Given the description of an element on the screen output the (x, y) to click on. 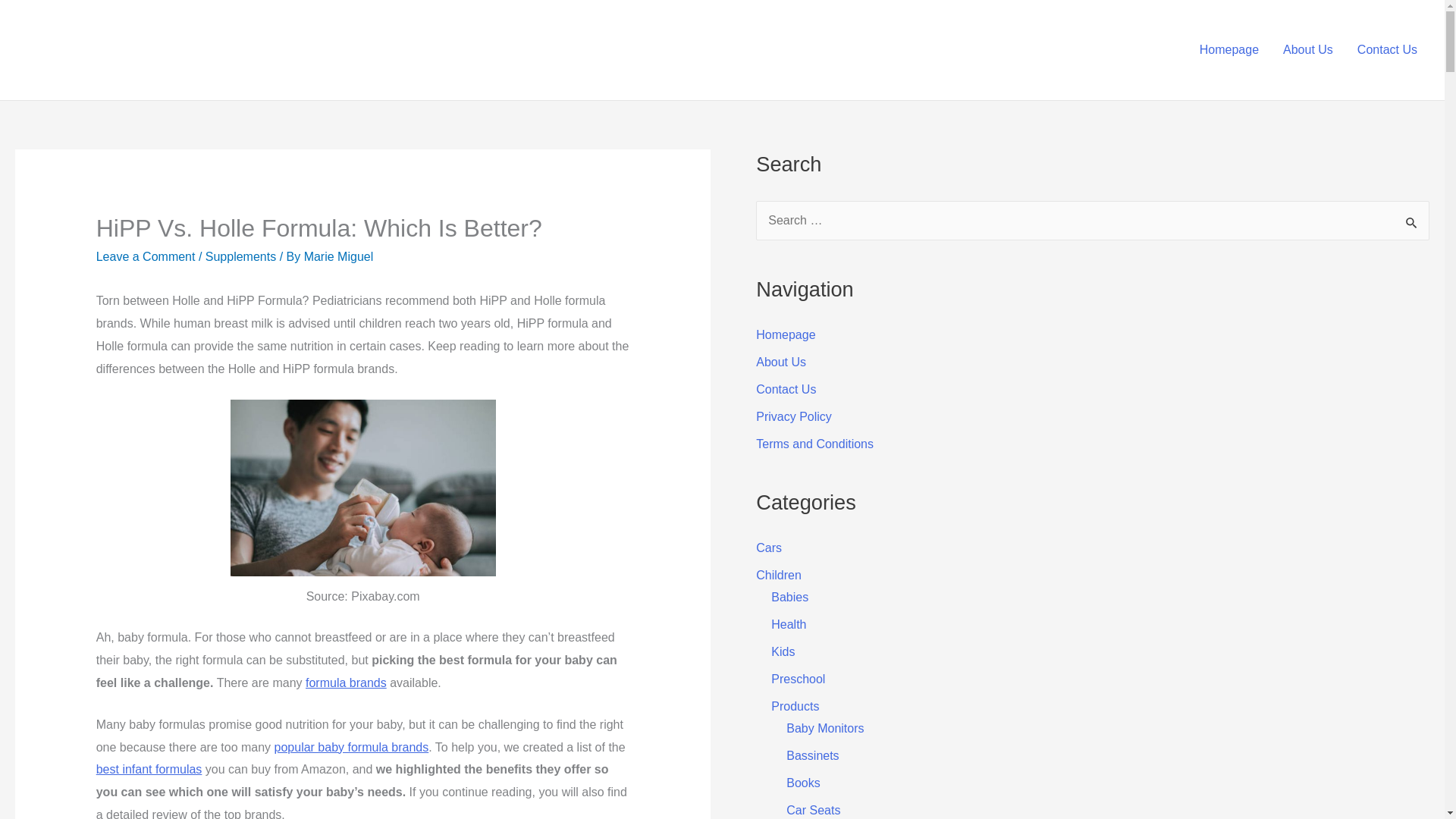
Terms and Conditions (814, 443)
best infant formulas (149, 768)
popular baby formula brands (352, 747)
Babies (789, 596)
Homepage (785, 334)
Children (778, 574)
Contact Us (1387, 49)
Privacy Policy (793, 416)
Supplements (240, 256)
About Us (1308, 49)
